Given the description of an element on the screen output the (x, y) to click on. 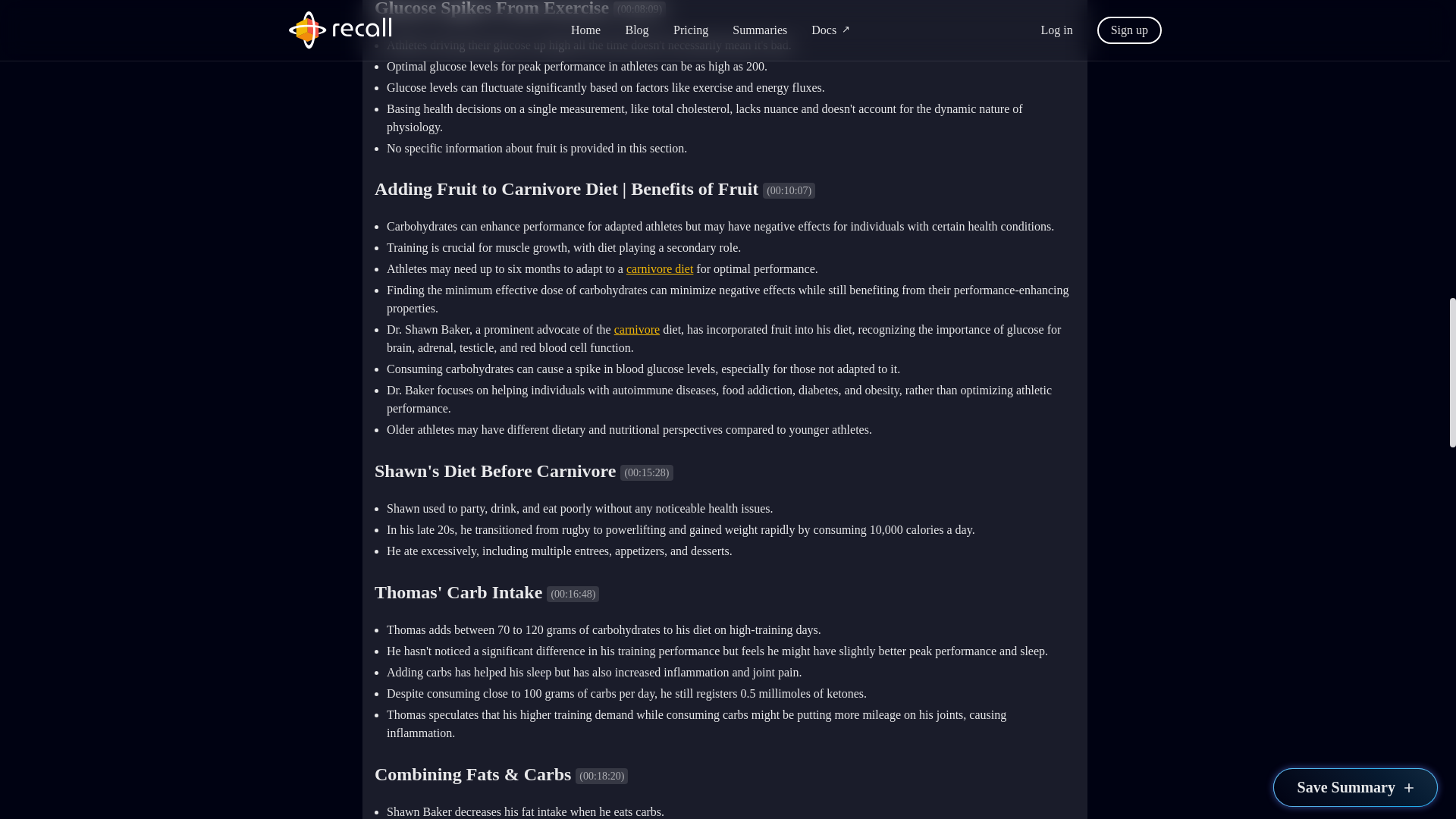
carnivore diet (659, 268)
carnivore (636, 328)
